Given the description of an element on the screen output the (x, y) to click on. 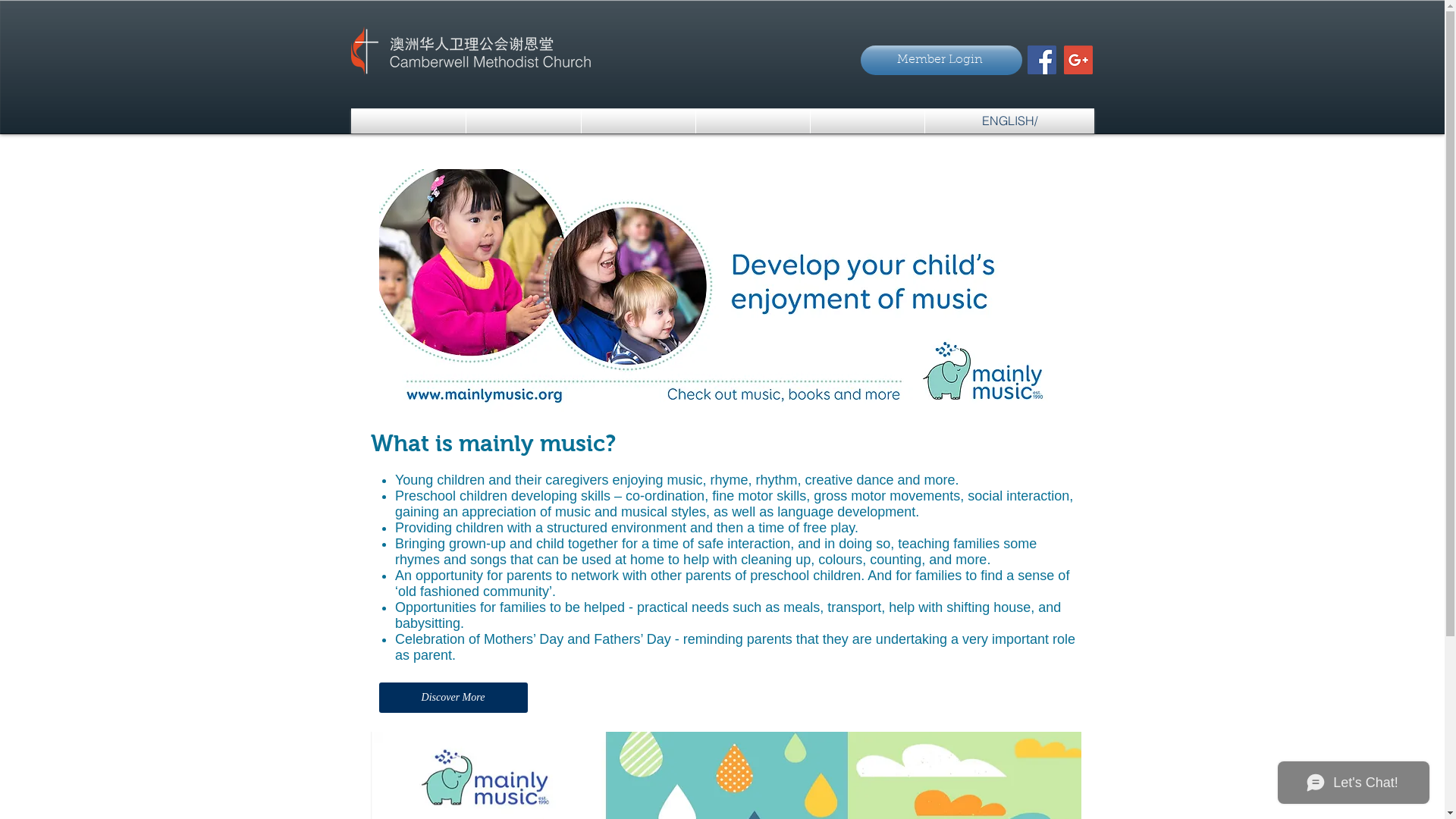
Discover More Element type: text (453, 697)
